Given the description of an element on the screen output the (x, y) to click on. 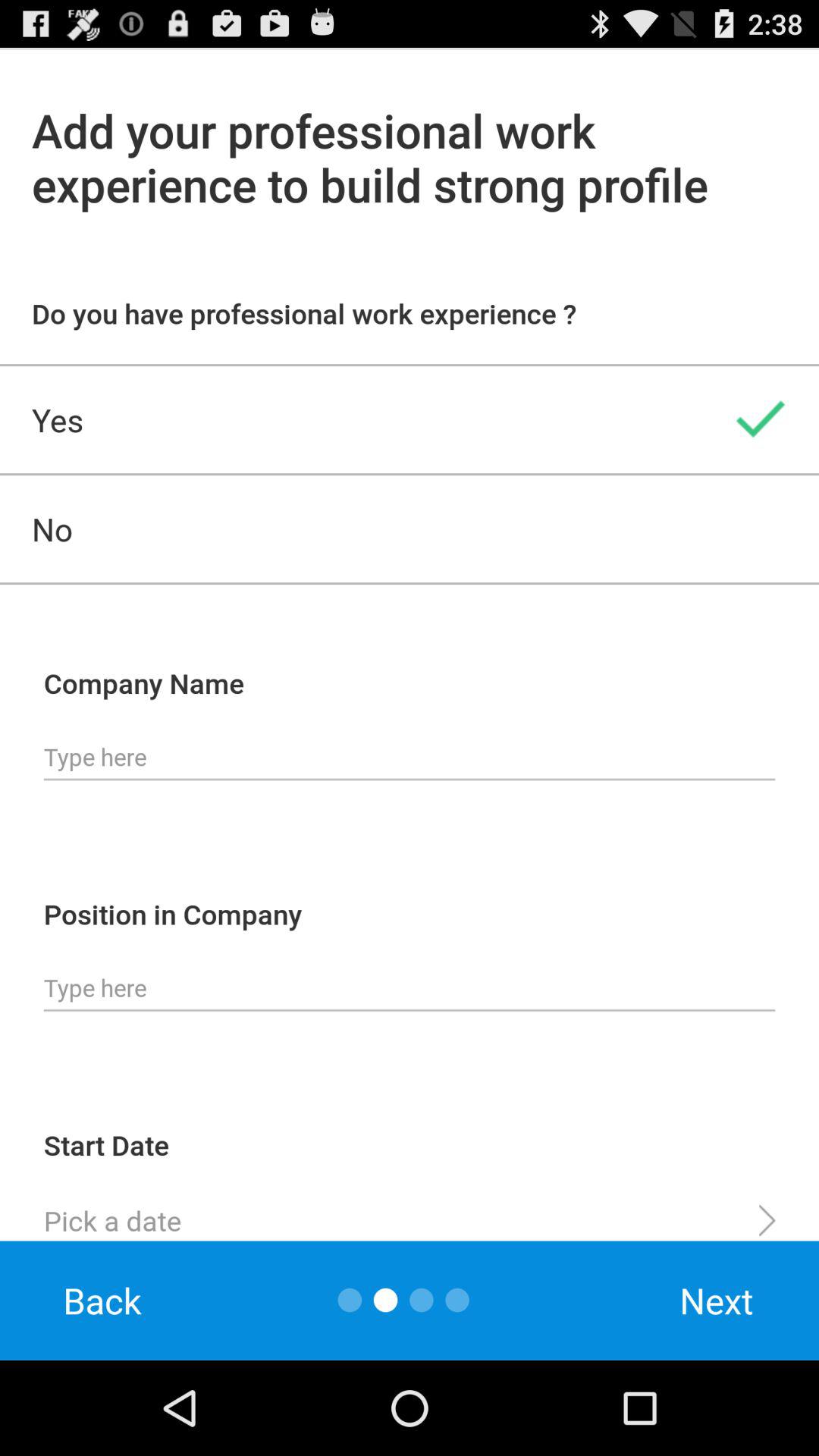
click pick a date (409, 1214)
